Given the description of an element on the screen output the (x, y) to click on. 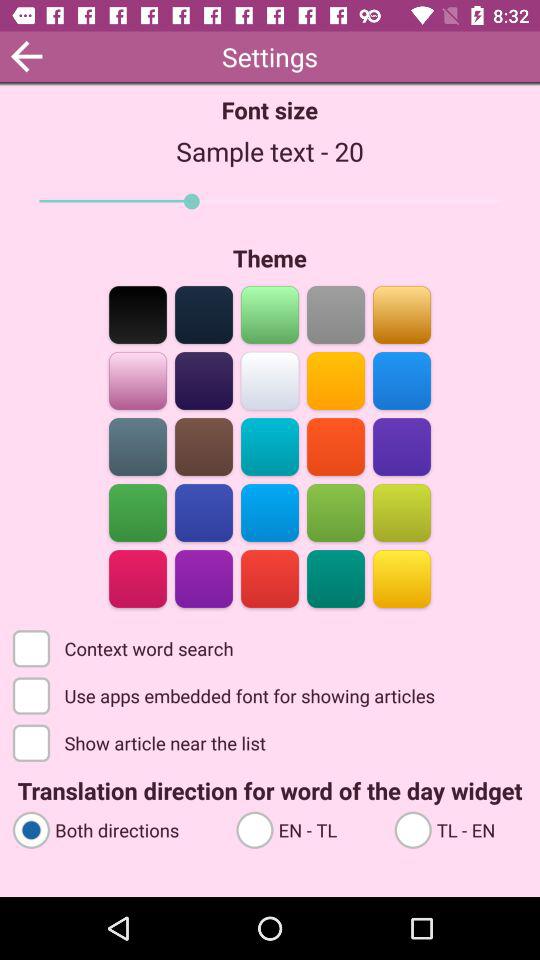
theme color orange (401, 313)
